Given the description of an element on the screen output the (x, y) to click on. 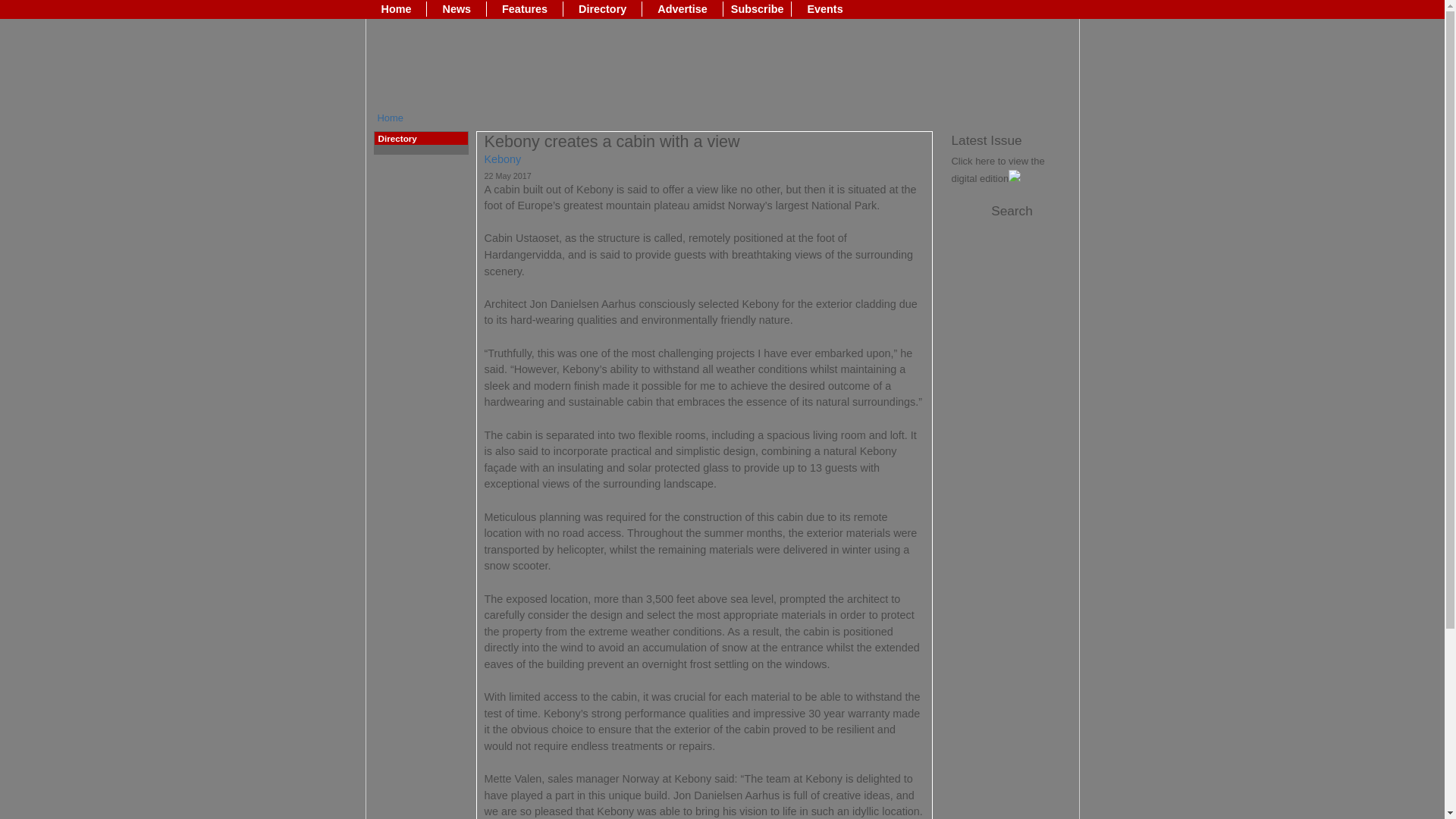
Kebony (502, 159)
Directory (601, 9)
News (456, 9)
Events (824, 9)
Home (395, 9)
Features (524, 9)
Advertise (681, 9)
Home (390, 117)
